Given the description of an element on the screen output the (x, y) to click on. 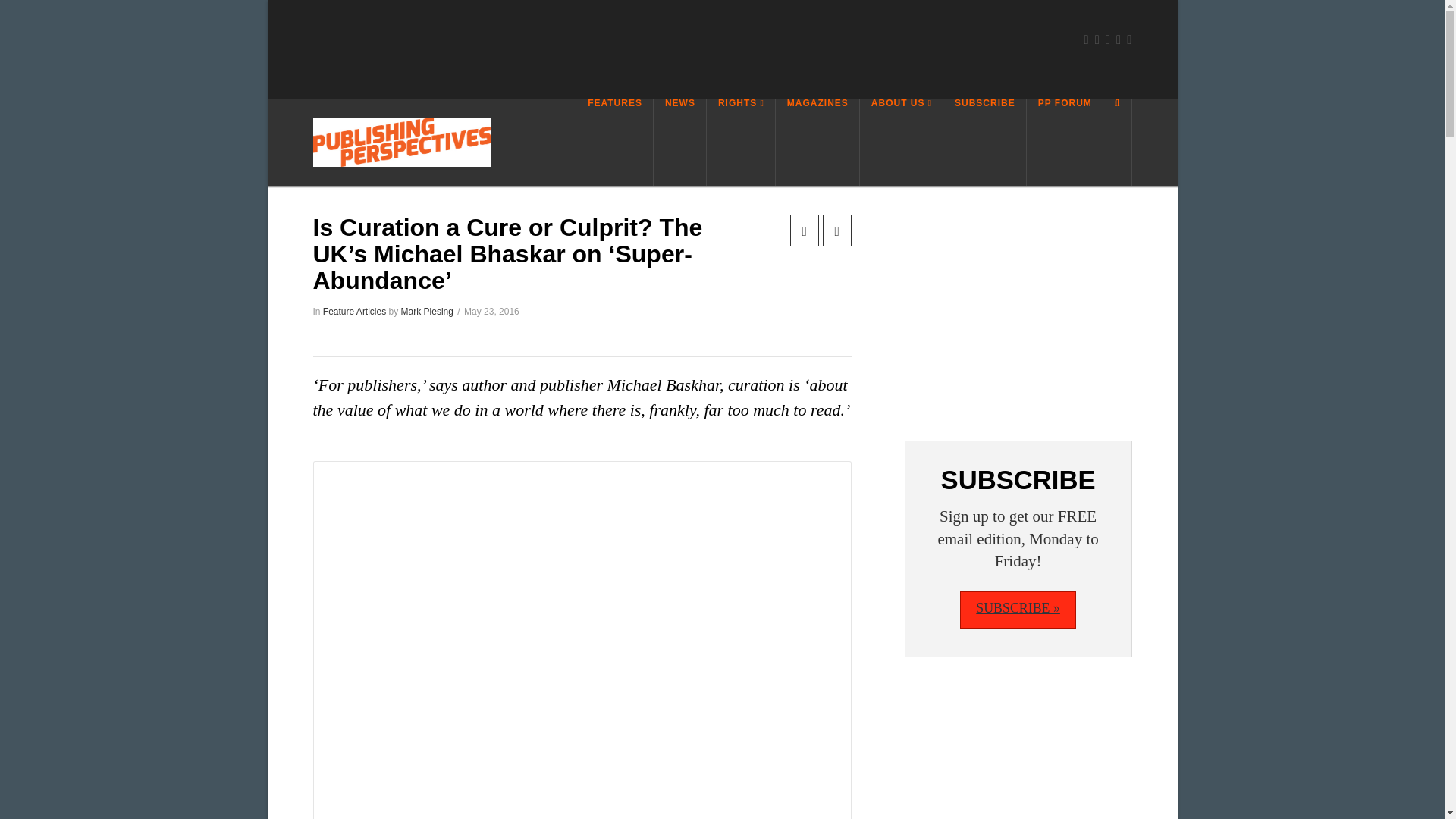
Feature Articles (354, 311)
FEATURES (614, 141)
MAGAZINES (818, 141)
SUBSCRIBE (984, 141)
Mark Piesing (426, 311)
ABOUT US (901, 141)
